Given the description of an element on the screen output the (x, y) to click on. 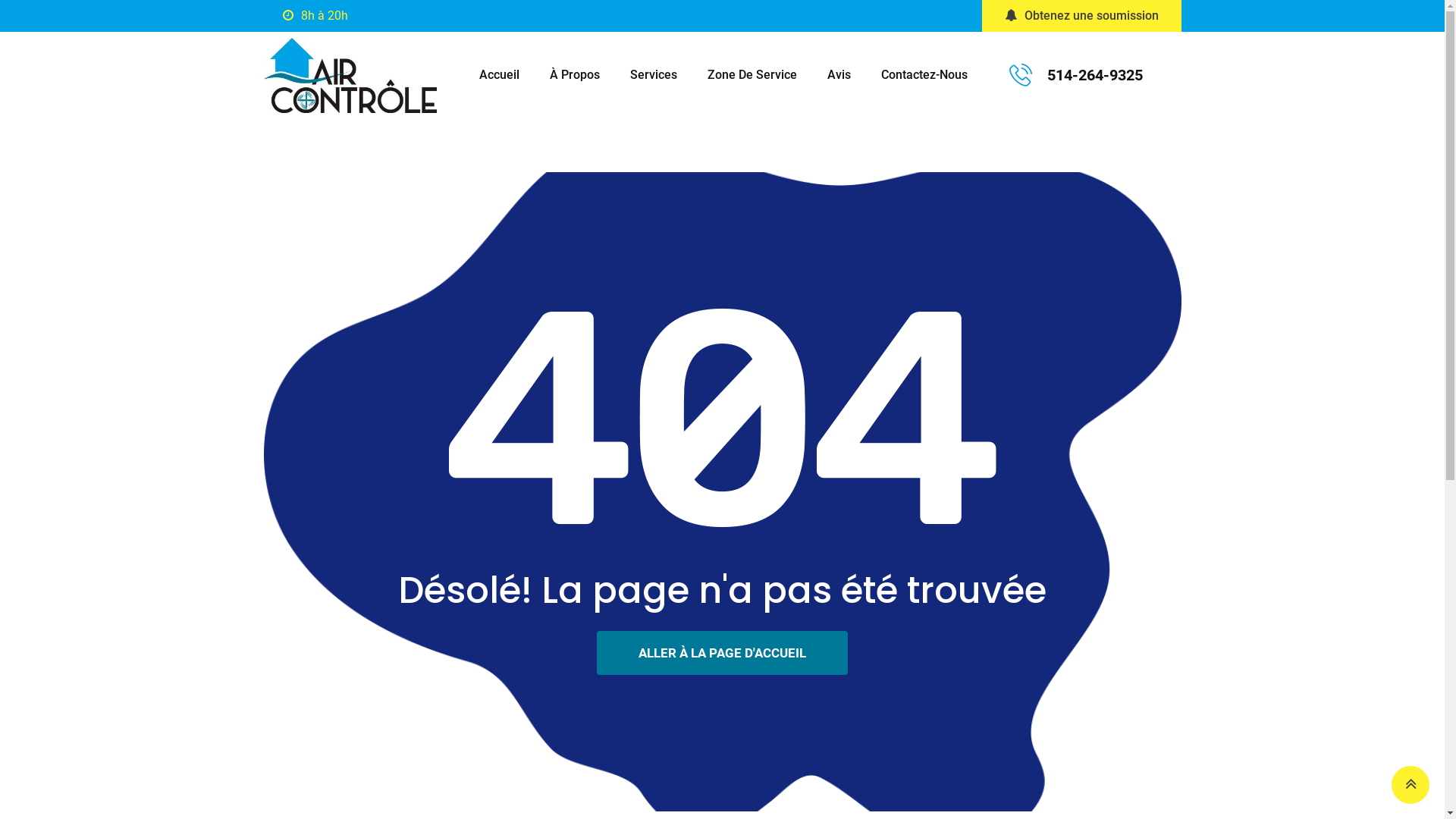
514-264-9325 Element type: text (1094, 74)
Zone De Service Element type: text (752, 74)
Obtenez une soumission Element type: text (1080, 15)
Services Element type: text (653, 74)
Accueil Element type: text (499, 74)
Avis Element type: text (839, 74)
Contactez-Nous Element type: text (924, 74)
